Given the description of an element on the screen output the (x, y) to click on. 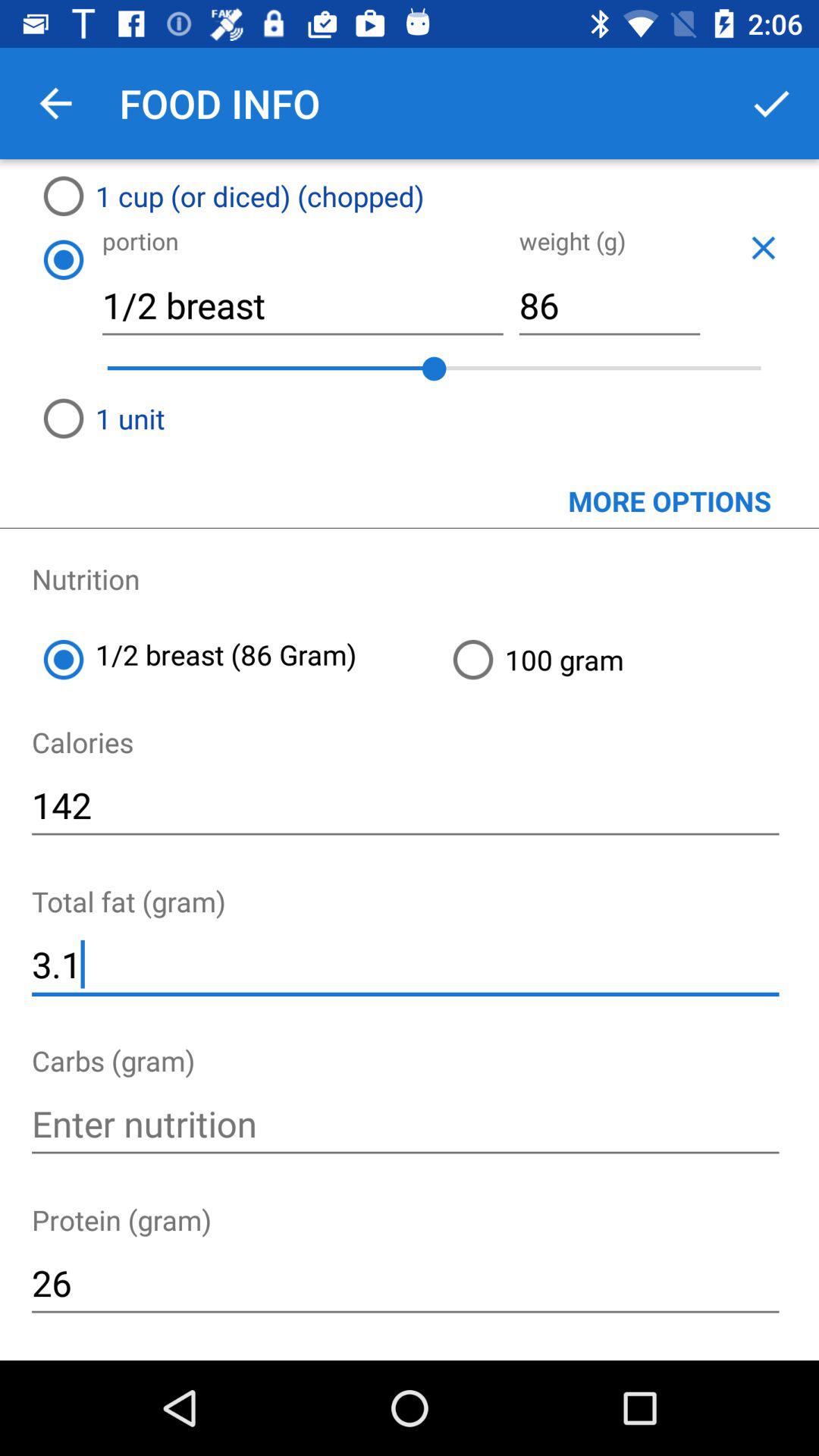
turn on the icon below the protein (gram) item (405, 1283)
